Given the description of an element on the screen output the (x, y) to click on. 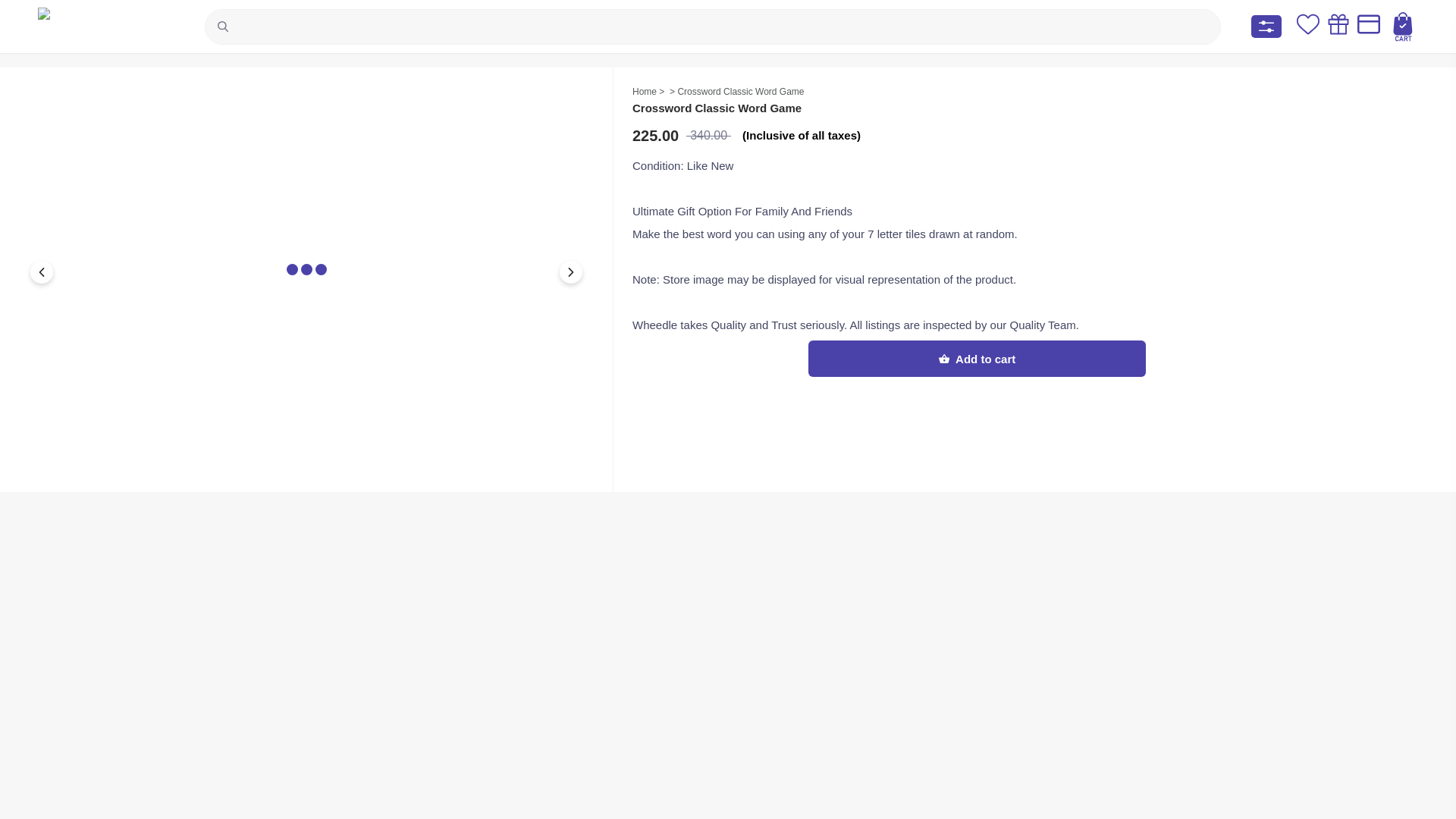
Crossword Classic Word Game (740, 91)
Add to cart (976, 358)
Home (643, 91)
Button (41, 272)
Button (570, 272)
